Given the description of an element on the screen output the (x, y) to click on. 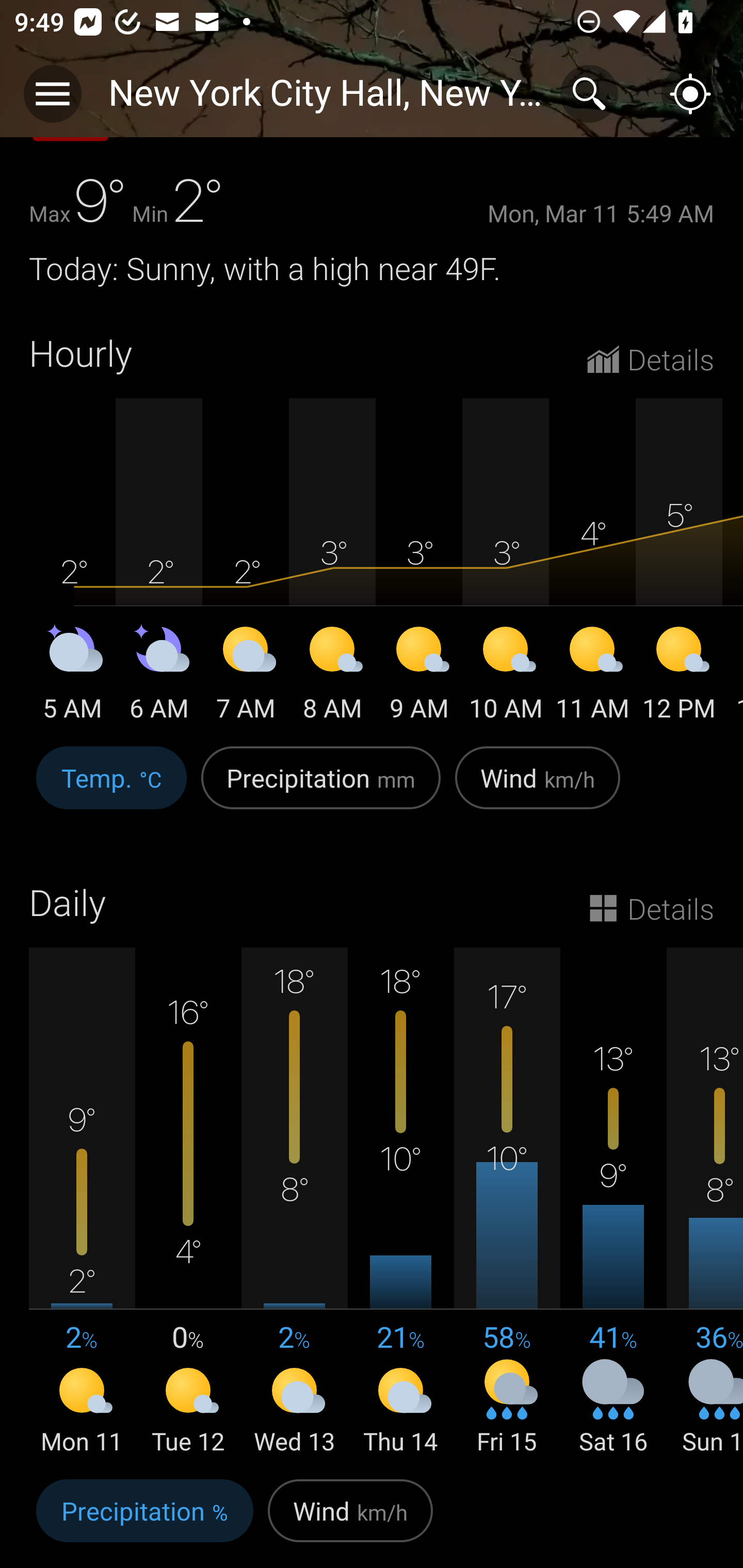
5 AM (71, 676)
6 AM (158, 676)
7 AM (245, 676)
8 AM (332, 676)
9 AM (418, 676)
10 AM (505, 676)
11 AM (592, 676)
12 PM (679, 676)
Temp. °C (110, 788)
Precipitation mm (320, 788)
Wind km/h (537, 788)
9° 2° 2 % Mon 11 (81, 1202)
16° 4° 0 % Tue 12 (188, 1202)
18° 8° 2 % Wed 13 (294, 1202)
18° 10° 21 % Thu 14 (400, 1202)
17° 10° 58 % Fri 15 (506, 1202)
13° 9° 41 % Sat 16 (613, 1202)
13° 8° 36 % Sun 17 (704, 1202)
Precipitation % (144, 1520)
Wind km/h (349, 1520)
